Given the description of an element on the screen output the (x, y) to click on. 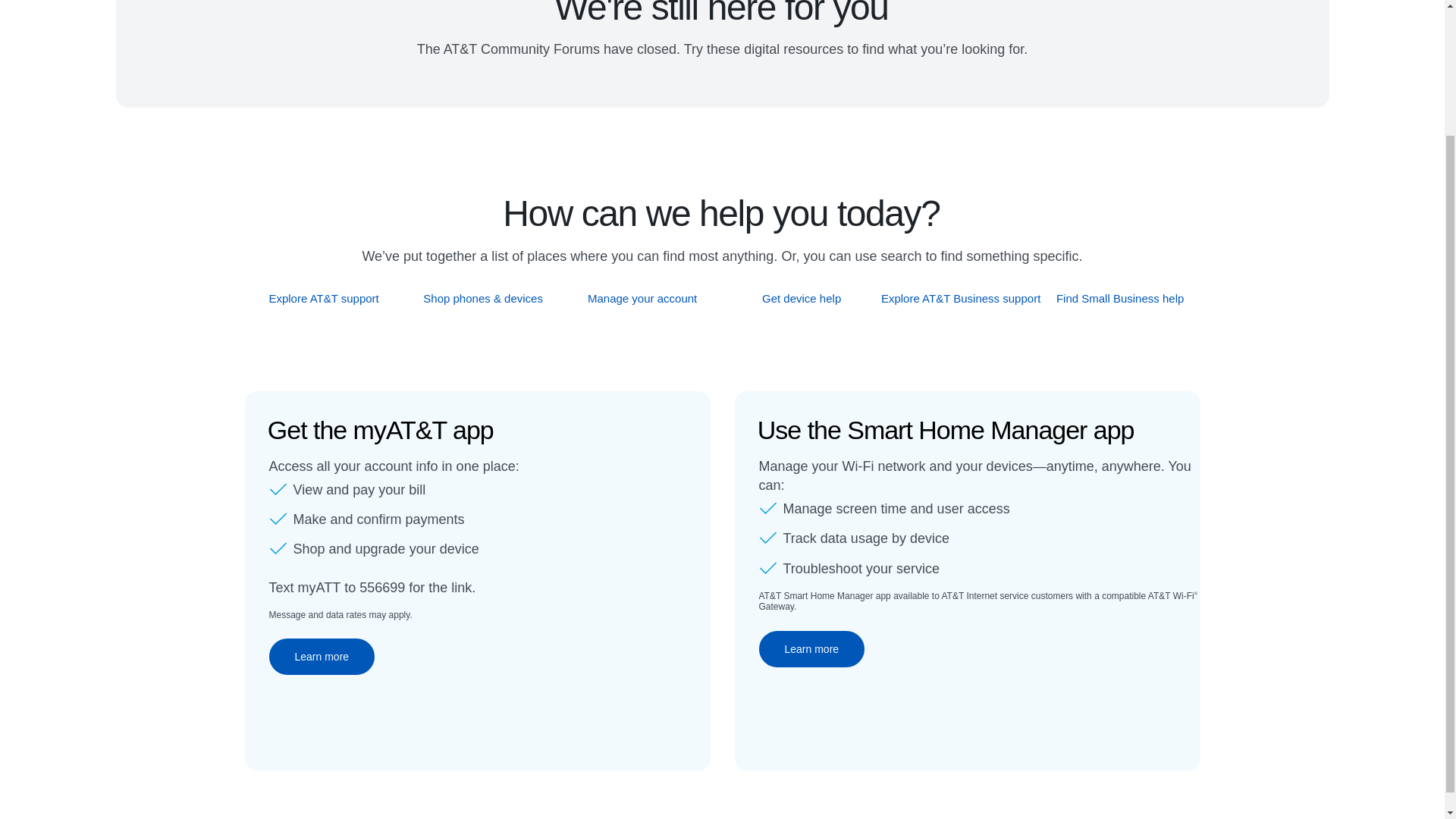
Manage your account (642, 298)
Find Small Business help (1121, 298)
Get device help (801, 298)
Learn more (320, 656)
Learn more (811, 648)
